Given the description of an element on the screen output the (x, y) to click on. 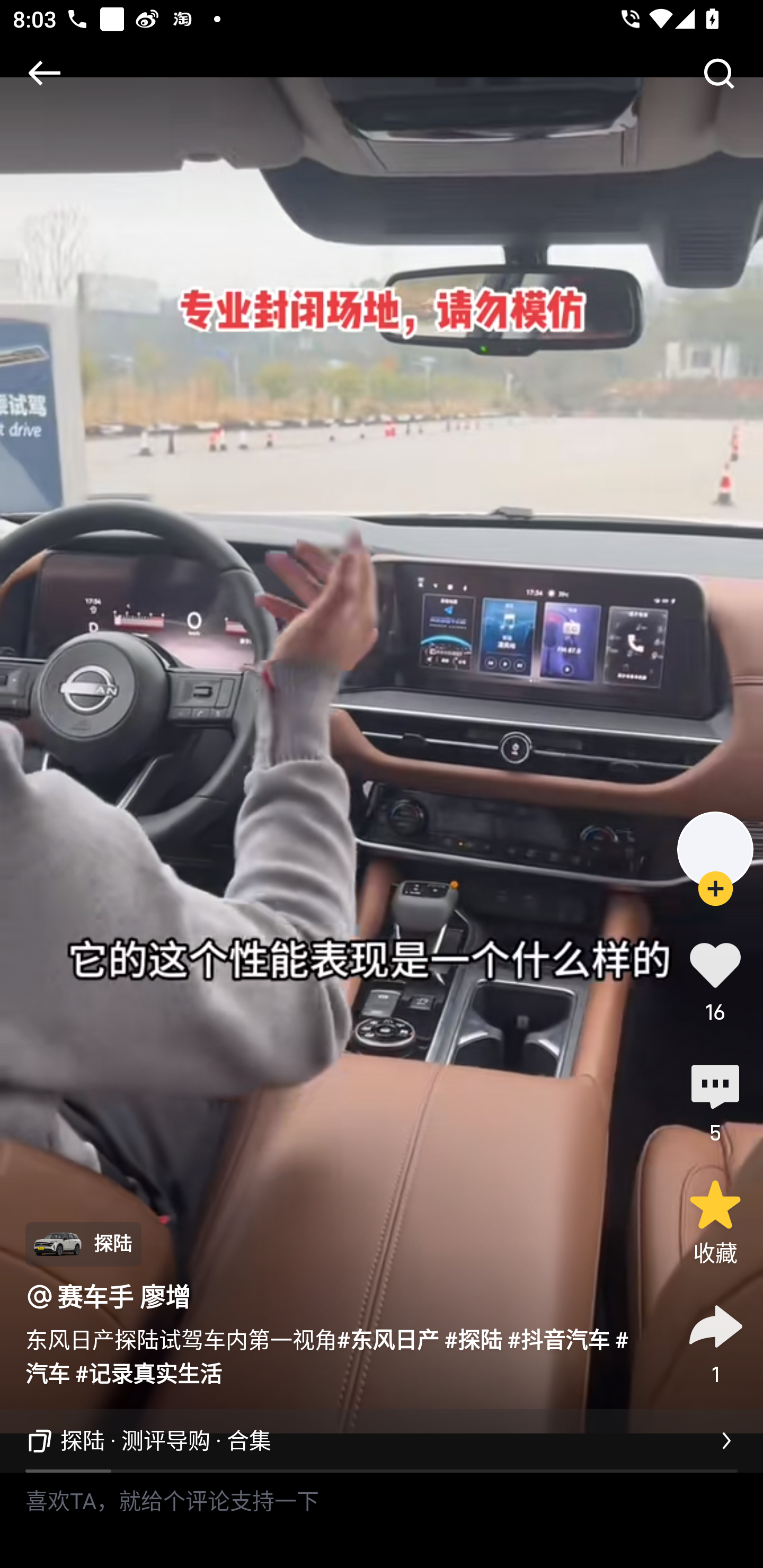
 (44, 72)
 (718, 72)
5 (715, 1100)
收藏 (715, 1221)
探陆 (83, 1243)
赛车手 廖增 (123, 1296)
1 (715, 1342)
东风日产探陆试驾车内第一视角#东风日产 #探陆 #抖音汽车 #汽车 #记录真实生活 (336, 1355)
探陆 · 测评导购 · 合集 (381, 1440)
喜欢TA，就给个评论支持一下 (381, 1520)
